Given the description of an element on the screen output the (x, y) to click on. 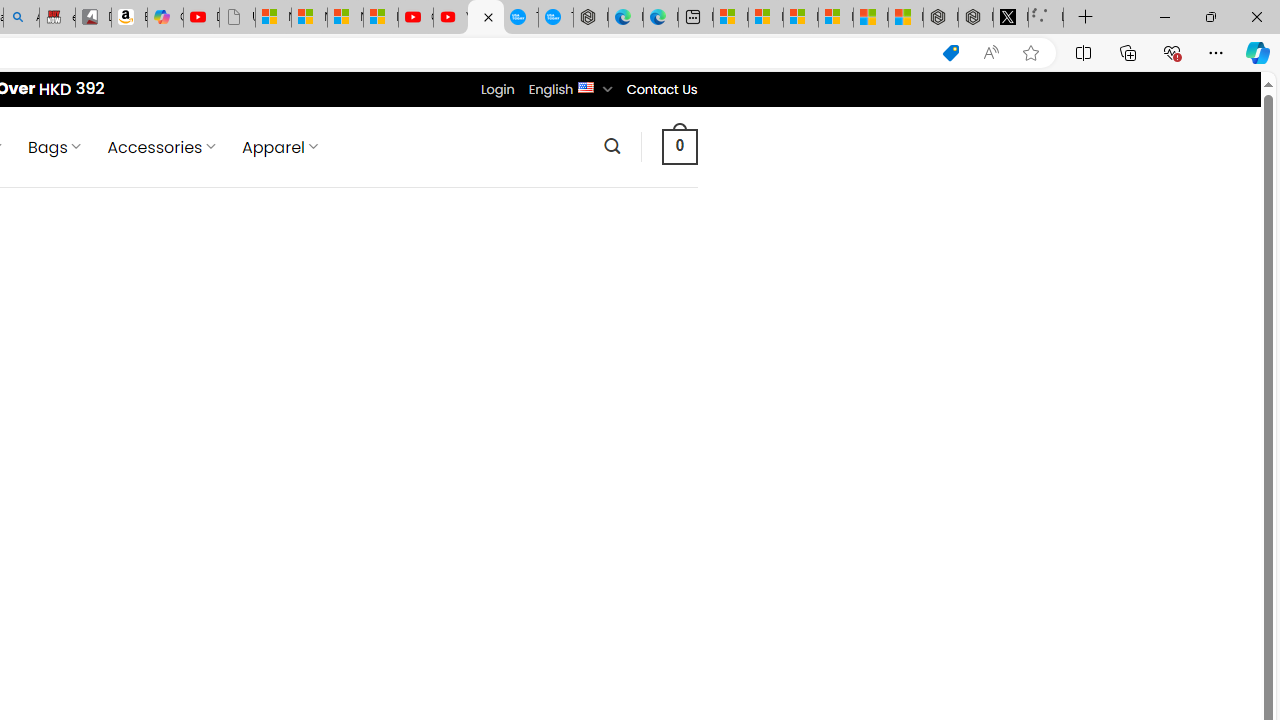
Untitled (1046, 17)
  0   (679, 146)
YouTube Kids - An App Created for Kids to Explore Content (450, 17)
Nordace - Nordace has arrived Hong Kong (590, 17)
